Given the description of an element on the screen output the (x, y) to click on. 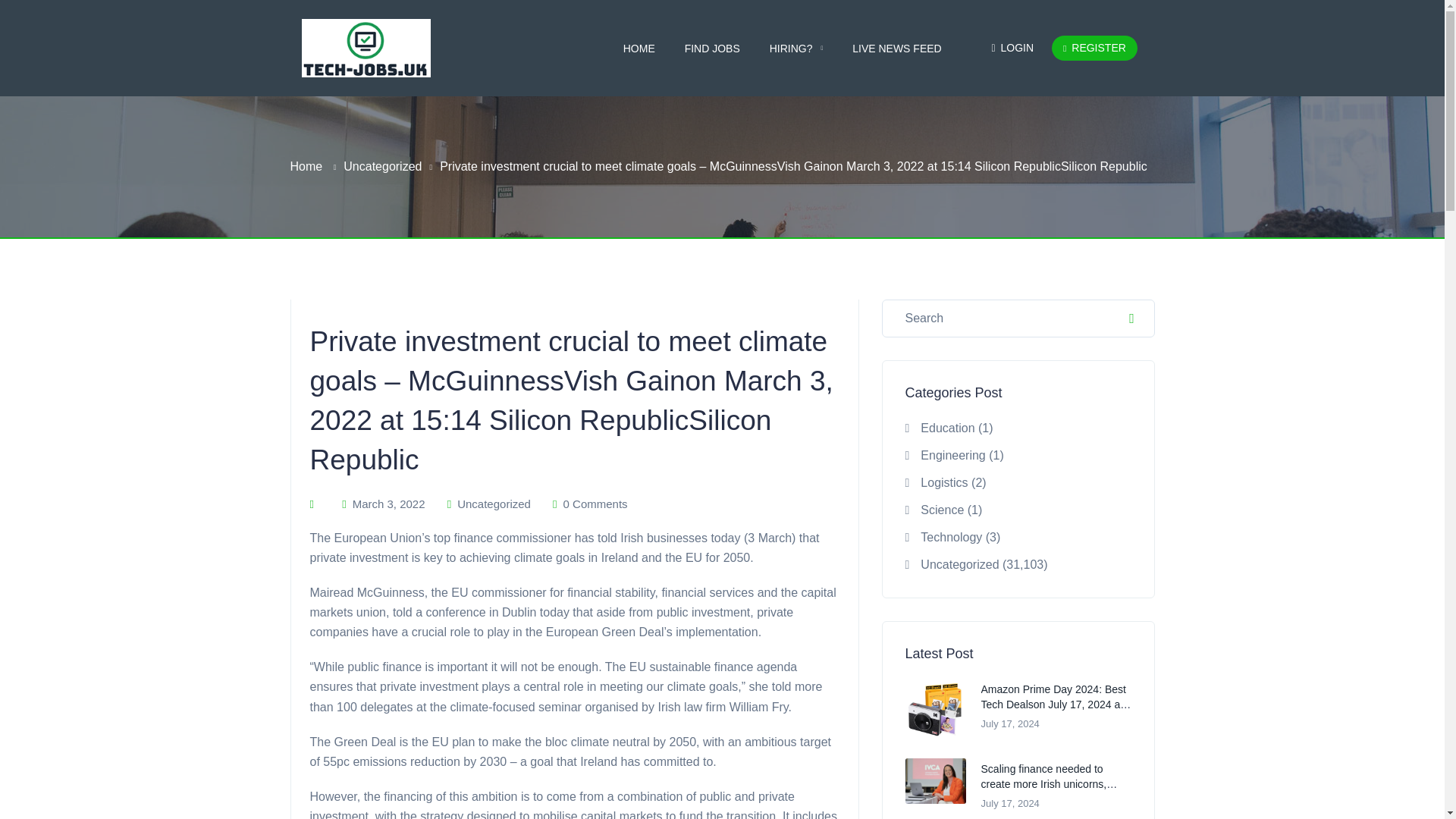
FIND JOBS (711, 48)
LIVE NEWS FEED (895, 48)
Uncategorized (382, 166)
Home (305, 166)
REGISTER (1094, 48)
Login (1020, 47)
Register (1094, 48)
HIRING? (797, 48)
Uncategorized (494, 503)
LOGIN (1020, 47)
